Given the description of an element on the screen output the (x, y) to click on. 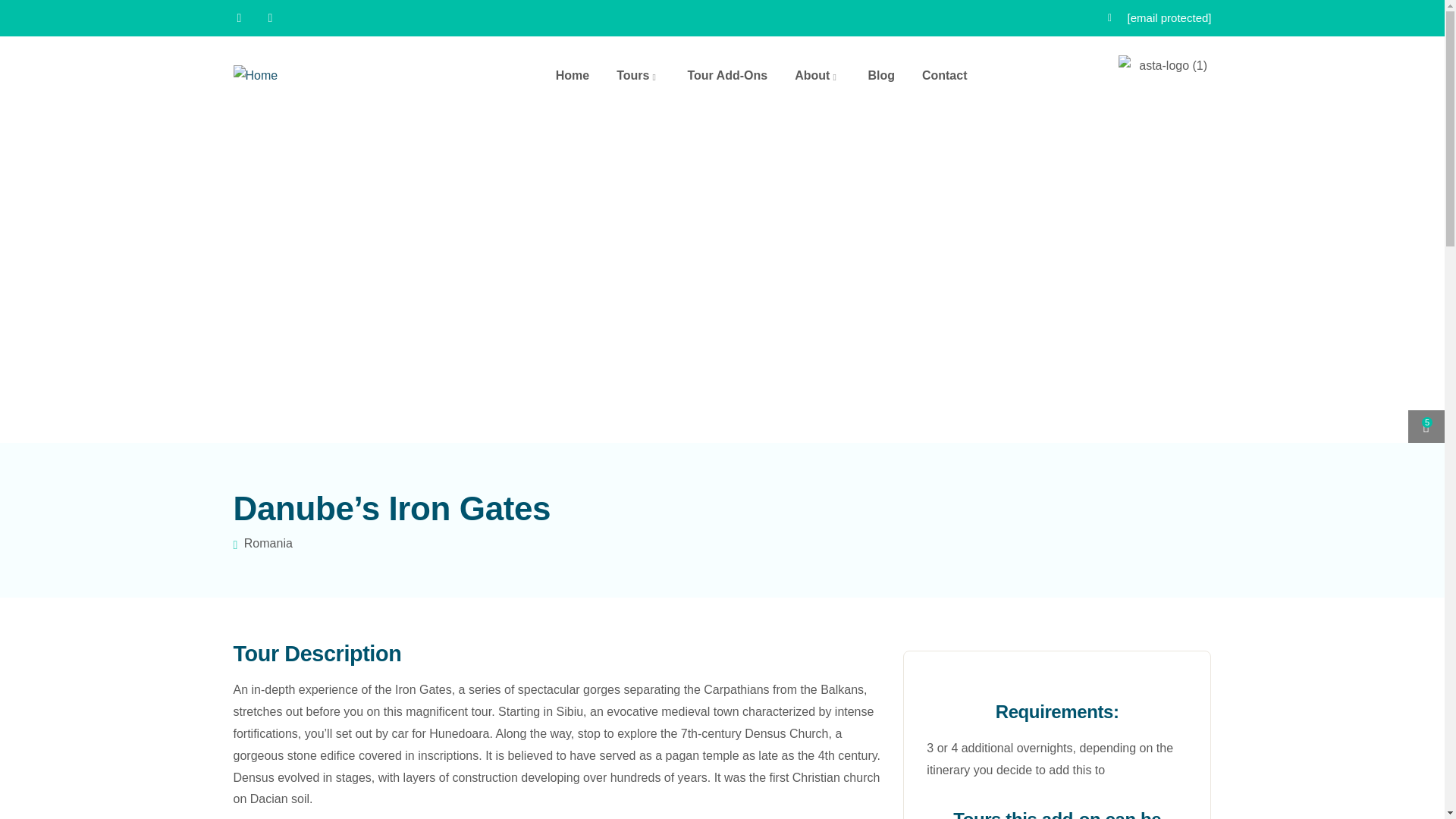
Home (255, 75)
Contact (944, 75)
Tour Add-Ons (726, 75)
Tours (637, 75)
About (816, 75)
